Given the description of an element on the screen output the (x, y) to click on. 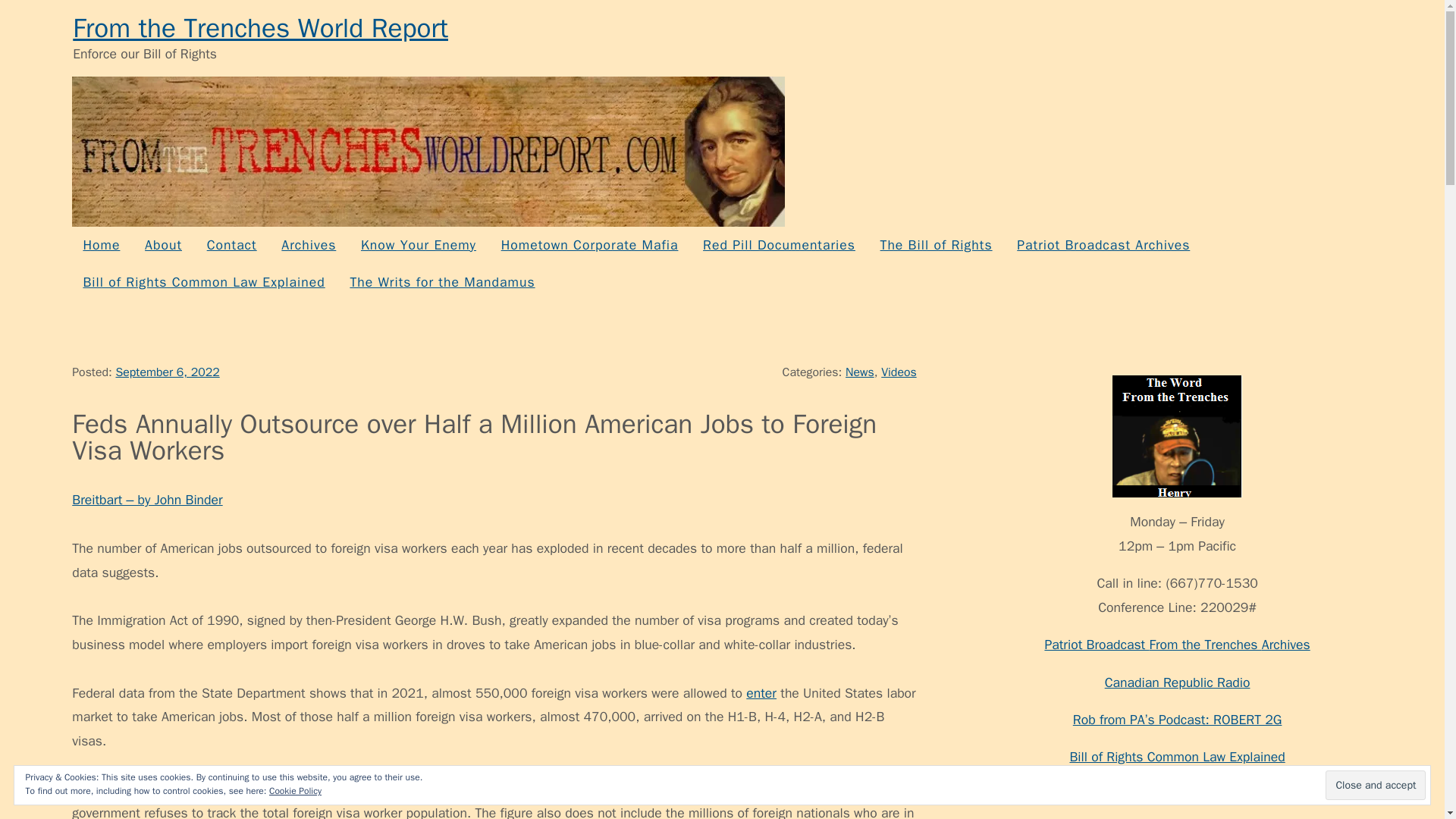
Know Your Enemy (418, 244)
Bill of Rights Common Law Explained (203, 282)
Videos (897, 372)
Contact (231, 244)
From the Trenches World Report (260, 28)
Home (100, 244)
Archives (308, 244)
September 6, 2022 (167, 372)
The Bill of Rights (935, 244)
Red Pill Documentaries (778, 244)
